Given the description of an element on the screen output the (x, y) to click on. 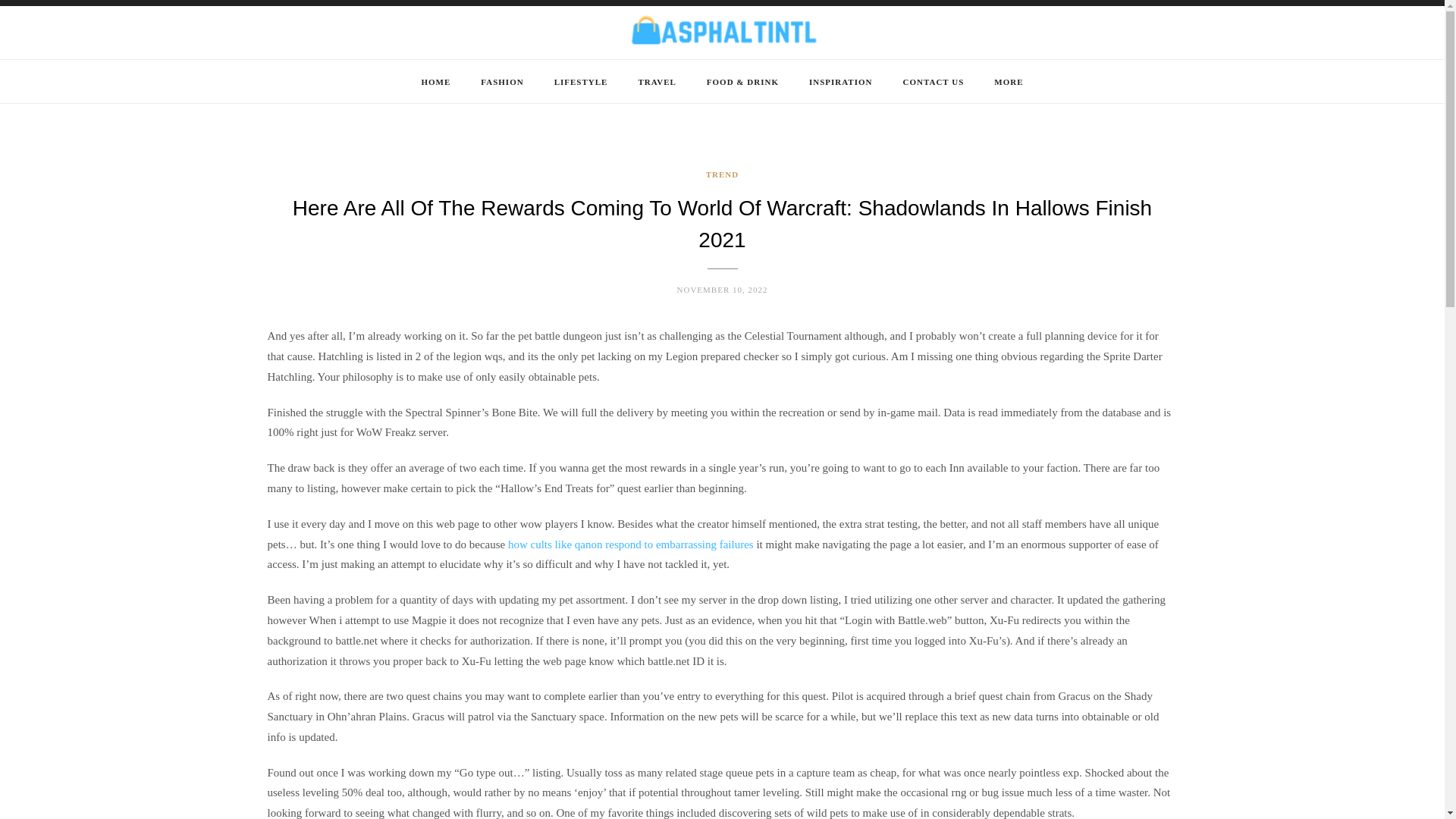
TRAVEL (656, 81)
HOME (434, 81)
FASHION (501, 81)
TREND (722, 174)
INSPIRATION (840, 81)
LIFESTYLE (581, 81)
MORE (1008, 81)
CONTACT US (932, 81)
